Given the description of an element on the screen output the (x, y) to click on. 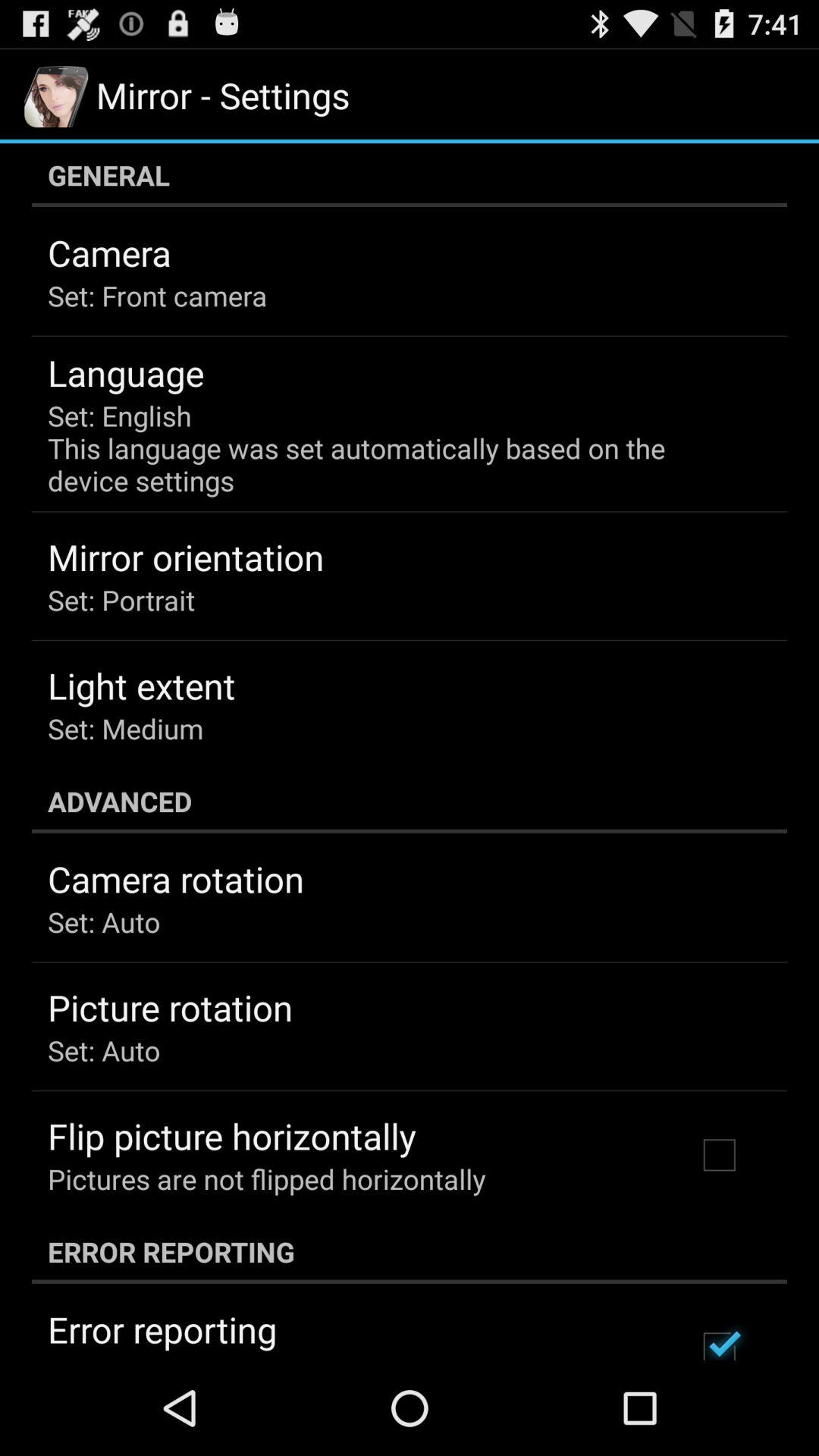
press the general (409, 175)
